Given the description of an element on the screen output the (x, y) to click on. 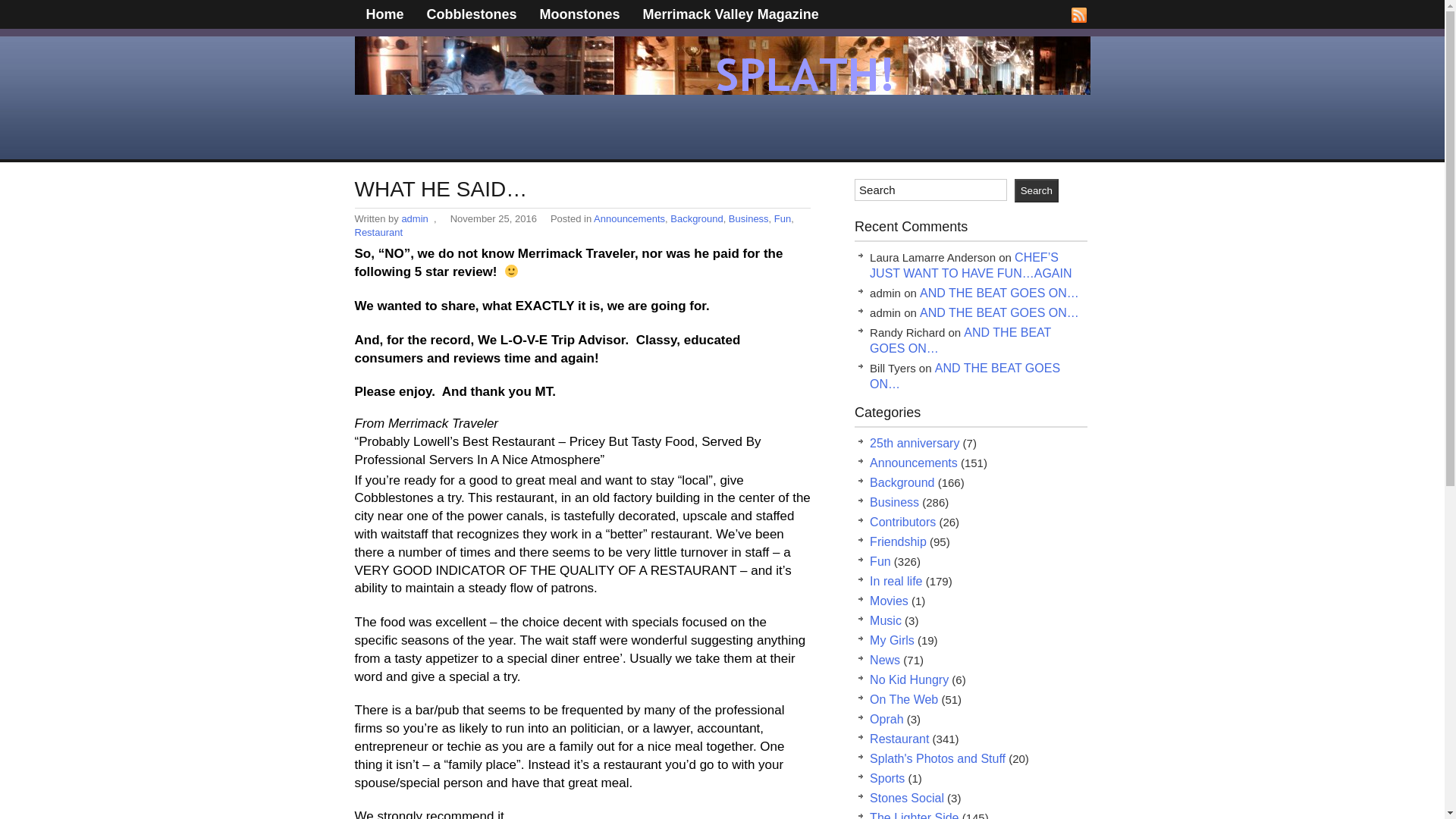
Background (695, 218)
Announcements (913, 462)
Search (1036, 190)
Cobblestones (471, 14)
Announcements (629, 218)
Home (384, 14)
Search (1036, 190)
Moonstones (579, 14)
Friendship (897, 541)
Music (885, 620)
